Given the description of an element on the screen output the (x, y) to click on. 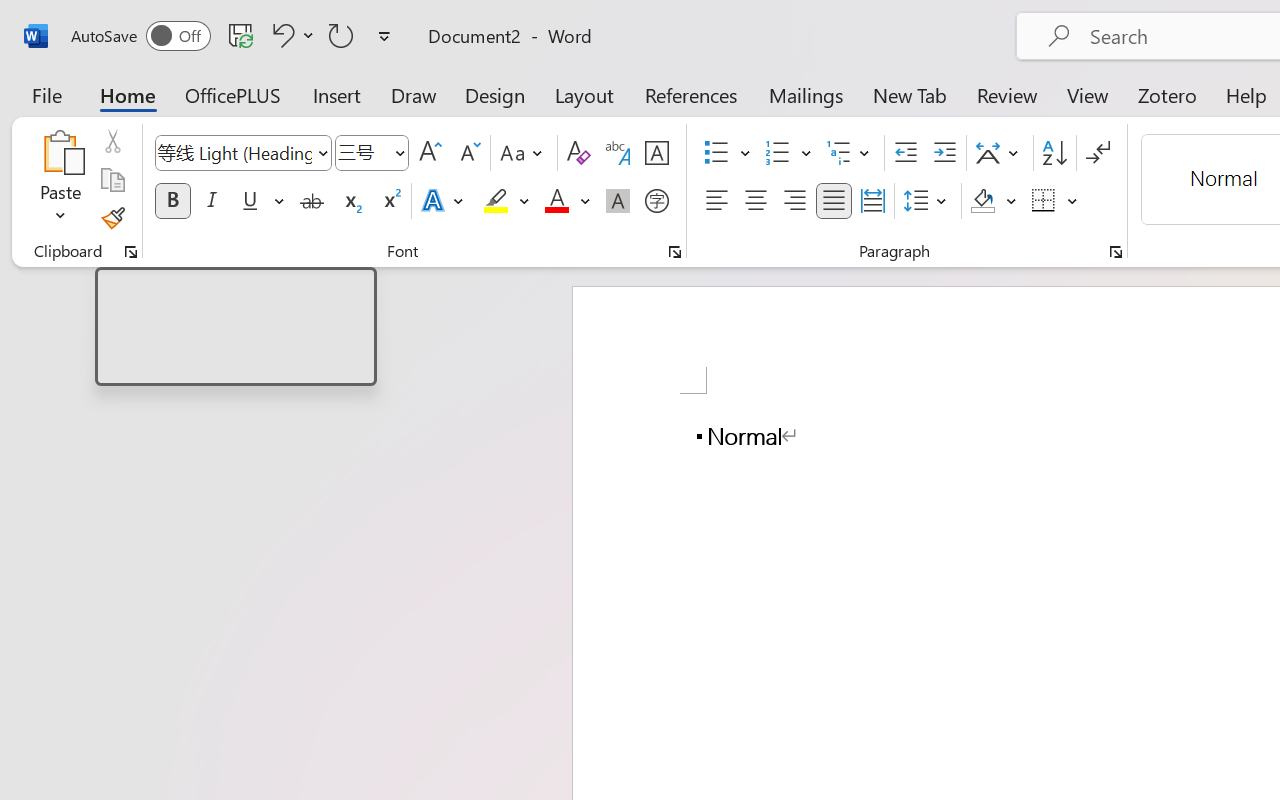
View (1087, 94)
Open (399, 152)
References (690, 94)
File Tab (46, 94)
Undo Typing (290, 35)
Font (234, 152)
Font Size (362, 152)
Zotero (1166, 94)
Distributed (872, 201)
Italic (212, 201)
Enclose Characters... (656, 201)
Insert (337, 94)
Copy (112, 179)
Review (1007, 94)
